Given the description of an element on the screen output the (x, y) to click on. 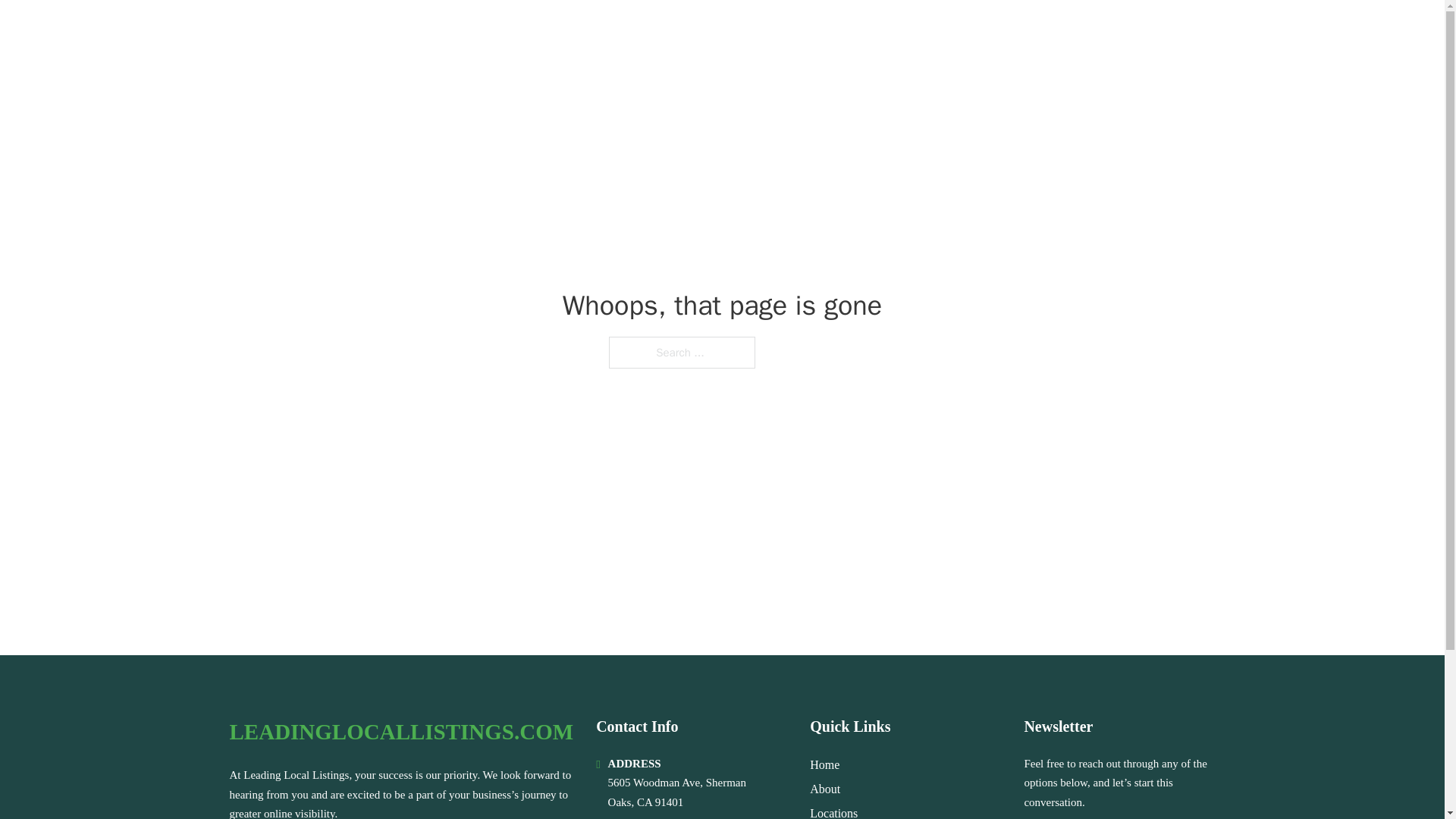
About (824, 788)
HOME (1025, 31)
LEADINGLOCALLISTINGS.COM (418, 31)
Locations (833, 811)
LOCATIONS (1098, 31)
Home (824, 764)
LEADINGLOCALLISTINGS.COM (400, 732)
